Given the description of an element on the screen output the (x, y) to click on. 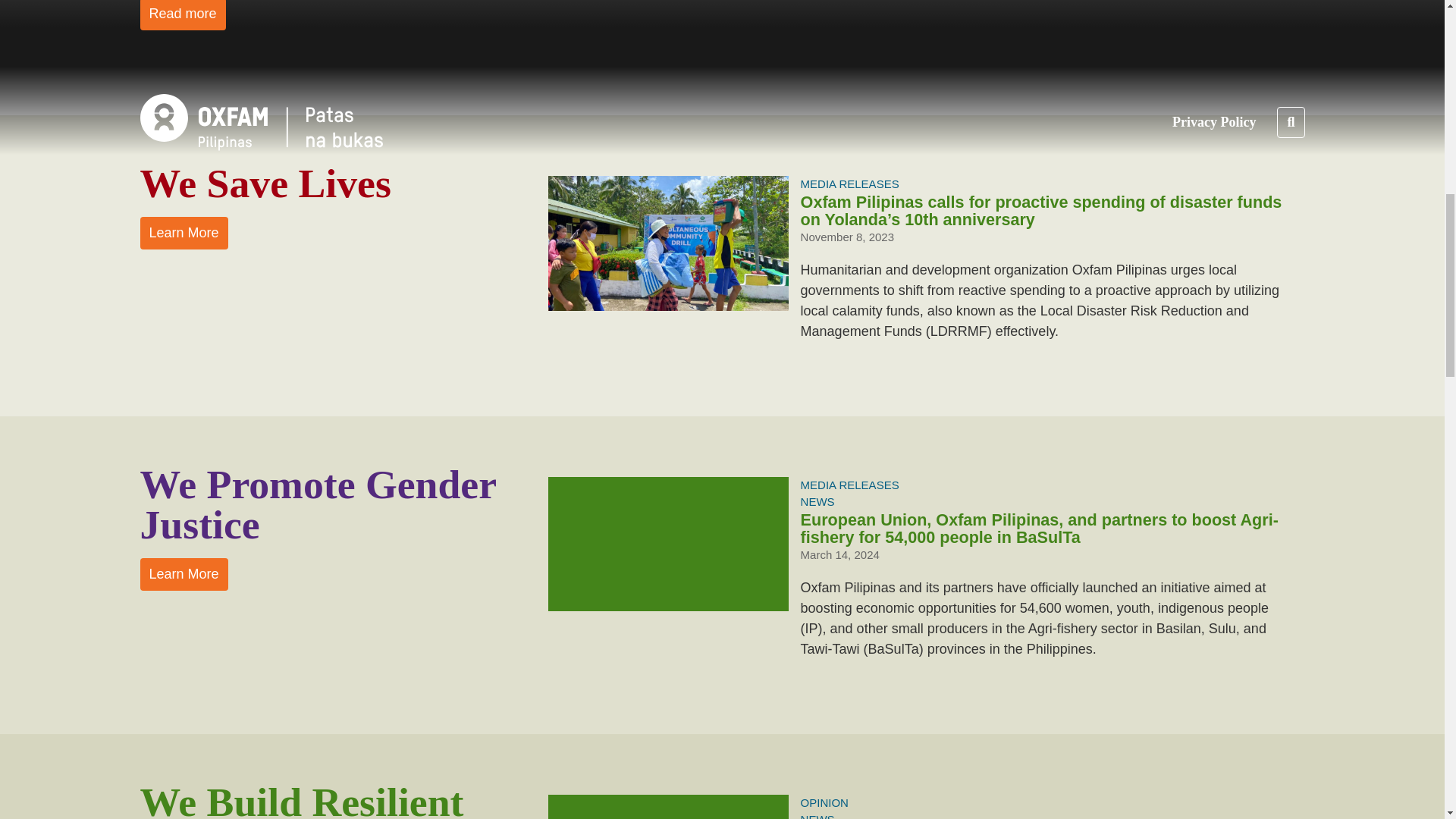
We Save Lives (183, 233)
MEDIA RELEASES (849, 183)
Learn More (183, 233)
We Promote Gender Justice (183, 573)
Read more (182, 15)
Learn More (183, 573)
NEWS (817, 501)
Read more (182, 15)
Who benefits from climate finance? (667, 806)
